Given the description of an element on the screen output the (x, y) to click on. 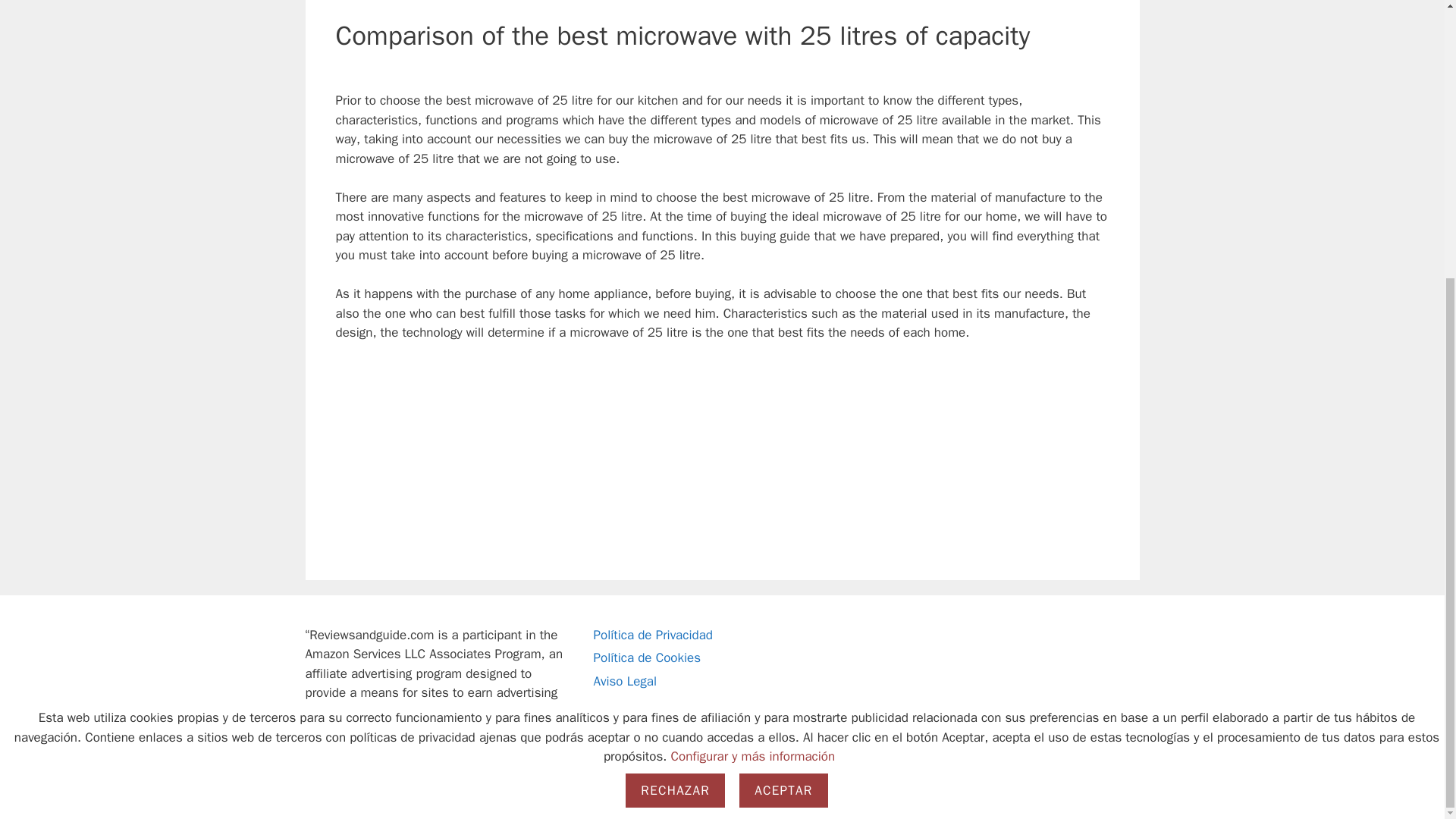
Aviso Legal (624, 681)
RECHAZAR (674, 377)
ACEPTAR (783, 377)
GeneratePress (549, 795)
